Given the description of an element on the screen output the (x, y) to click on. 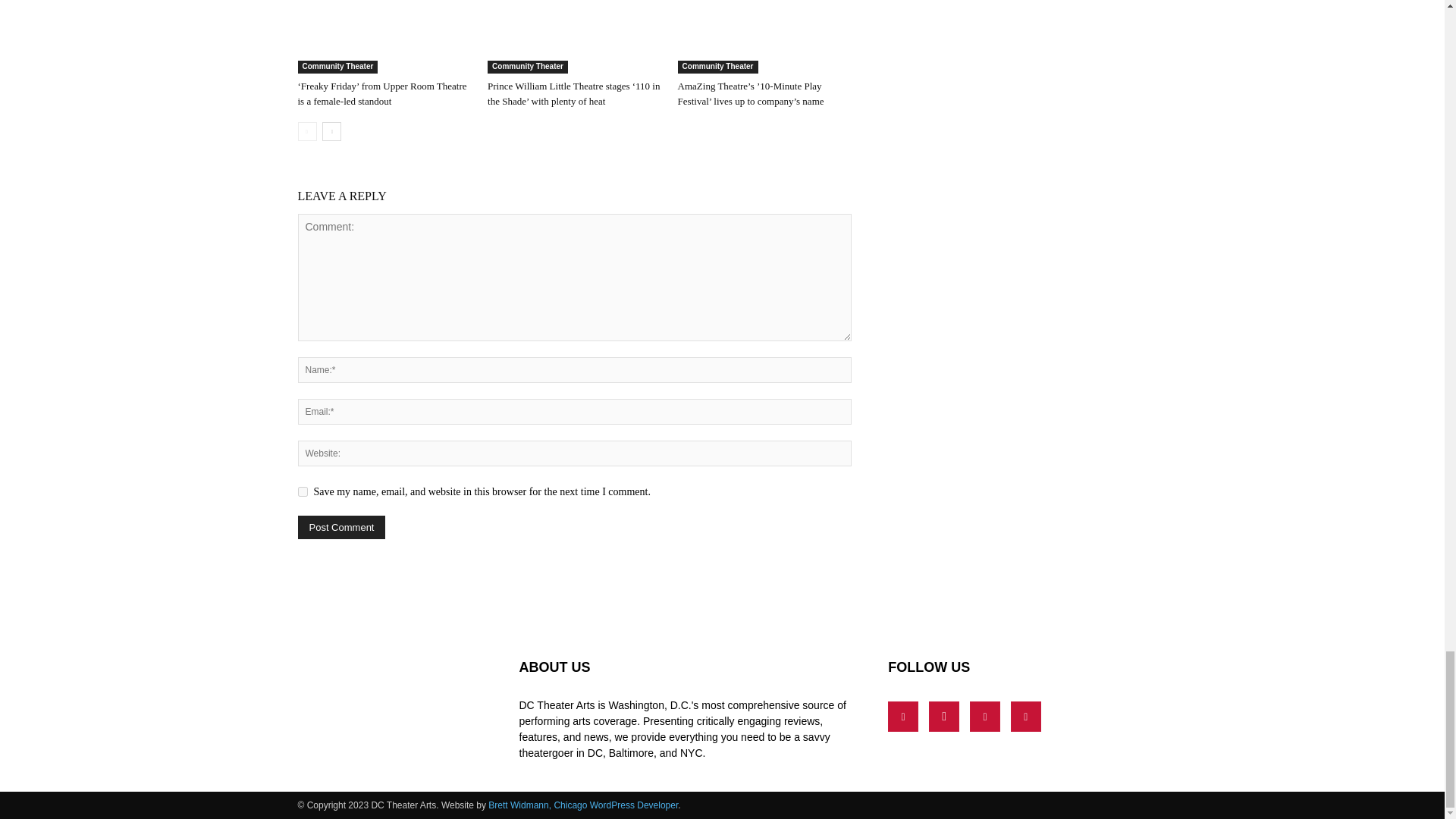
Post Comment (341, 526)
yes (302, 491)
